Given the description of an element on the screen output the (x, y) to click on. 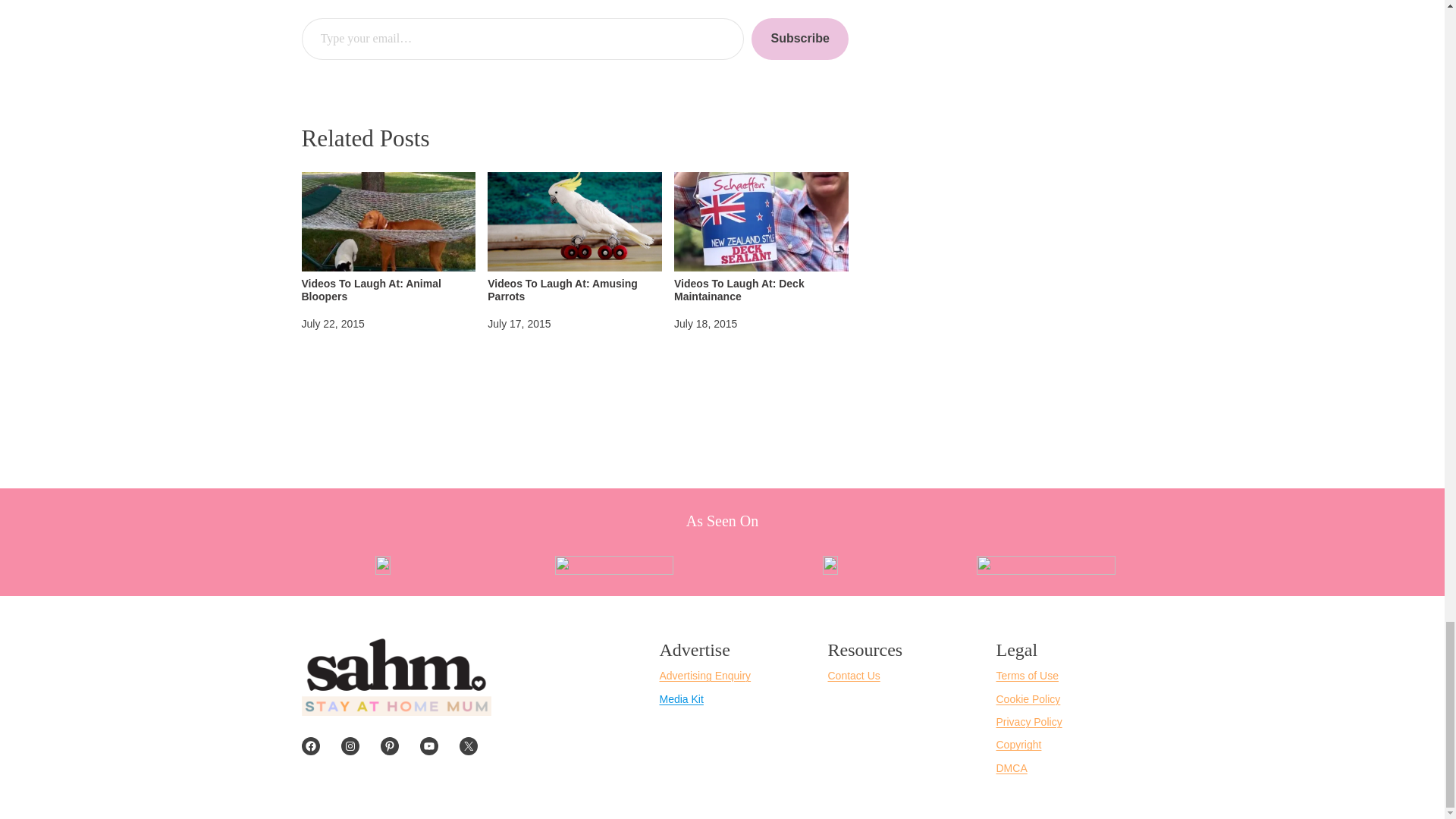
Please fill in this field. (522, 38)
